Given the description of an element on the screen output the (x, y) to click on. 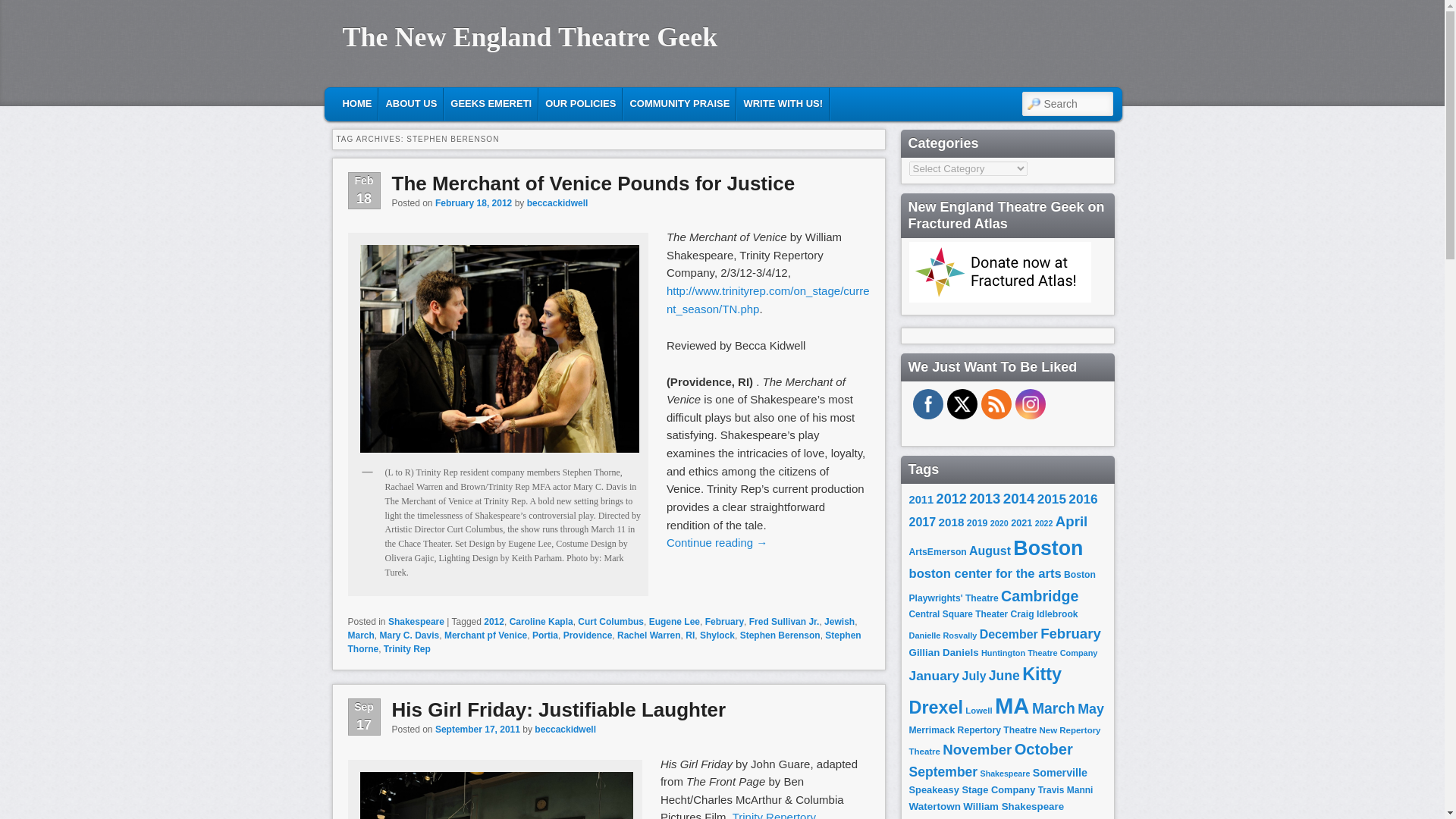
HOME (356, 103)
Rachel Warren (649, 634)
OUR POLICIES (579, 103)
Curt Columbus (610, 621)
Skip to secondary content (432, 102)
beccackidwell (564, 728)
Shylock (717, 634)
February (724, 621)
6:24 pm (477, 728)
The Merchant of Venice Pounds for Justice (592, 182)
SKIP TO PRIMARY CONTENT (421, 102)
GEEKS EMERETI (490, 103)
The New England Theatre Geek (529, 37)
Stephen Thorne (603, 641)
View all posts by beccackidwell (557, 203)
